Given the description of an element on the screen output the (x, y) to click on. 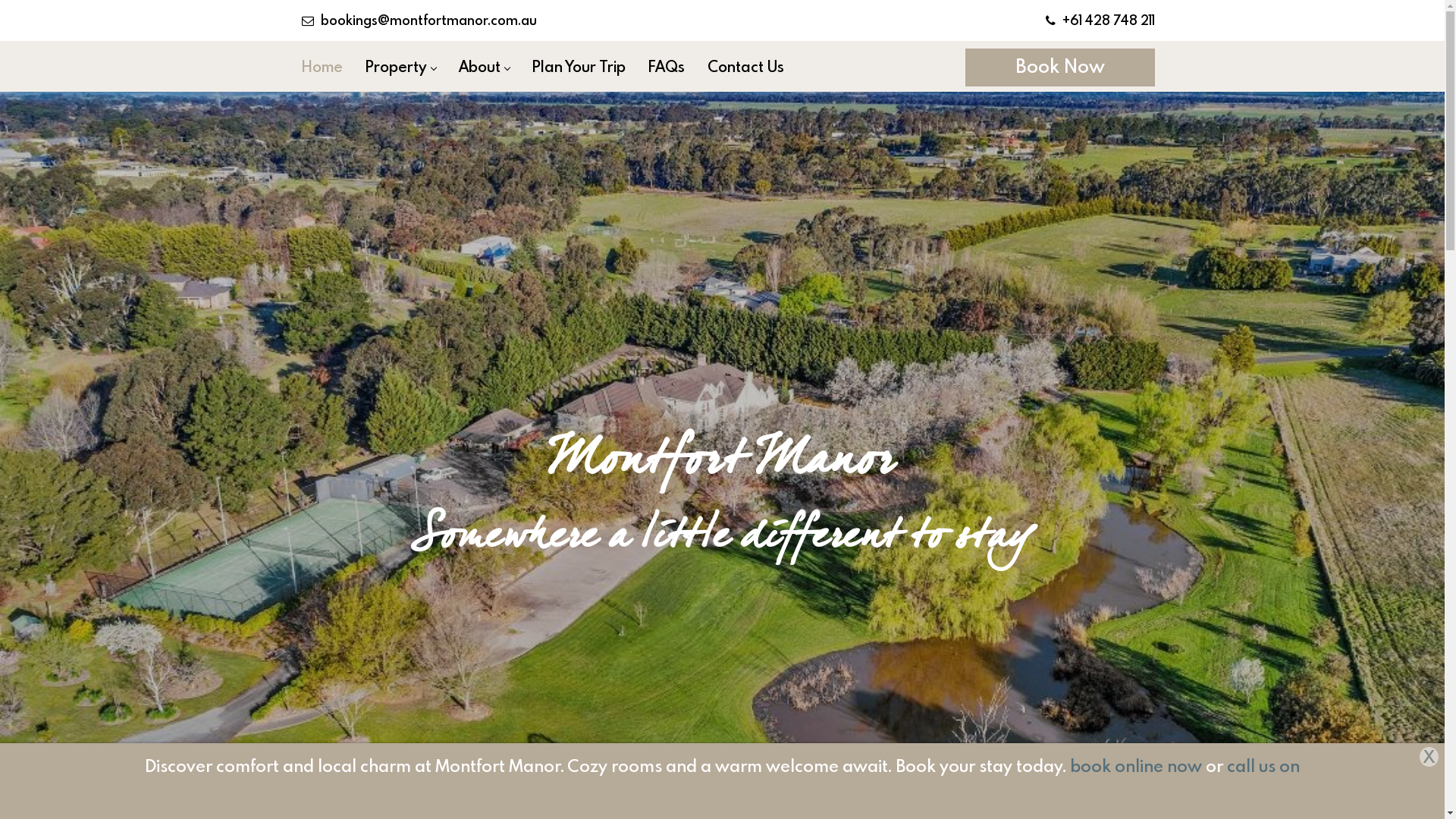
book online now Element type: text (1135, 765)
bookings@montfortmanor.com.au Element type: text (418, 20)
FAQs Element type: text (666, 65)
Book Now Element type: text (1059, 65)
Plan Your Trip Element type: text (578, 65)
X Element type: text (1428, 756)
+61 428 748 211 Element type: text (1099, 20)
About Element type: text (483, 65)
Contact Us Element type: text (745, 65)
Home Element type: text (321, 65)
call us on Element type: text (1262, 765)
Property Element type: text (399, 65)
